Given the description of an element on the screen output the (x, y) to click on. 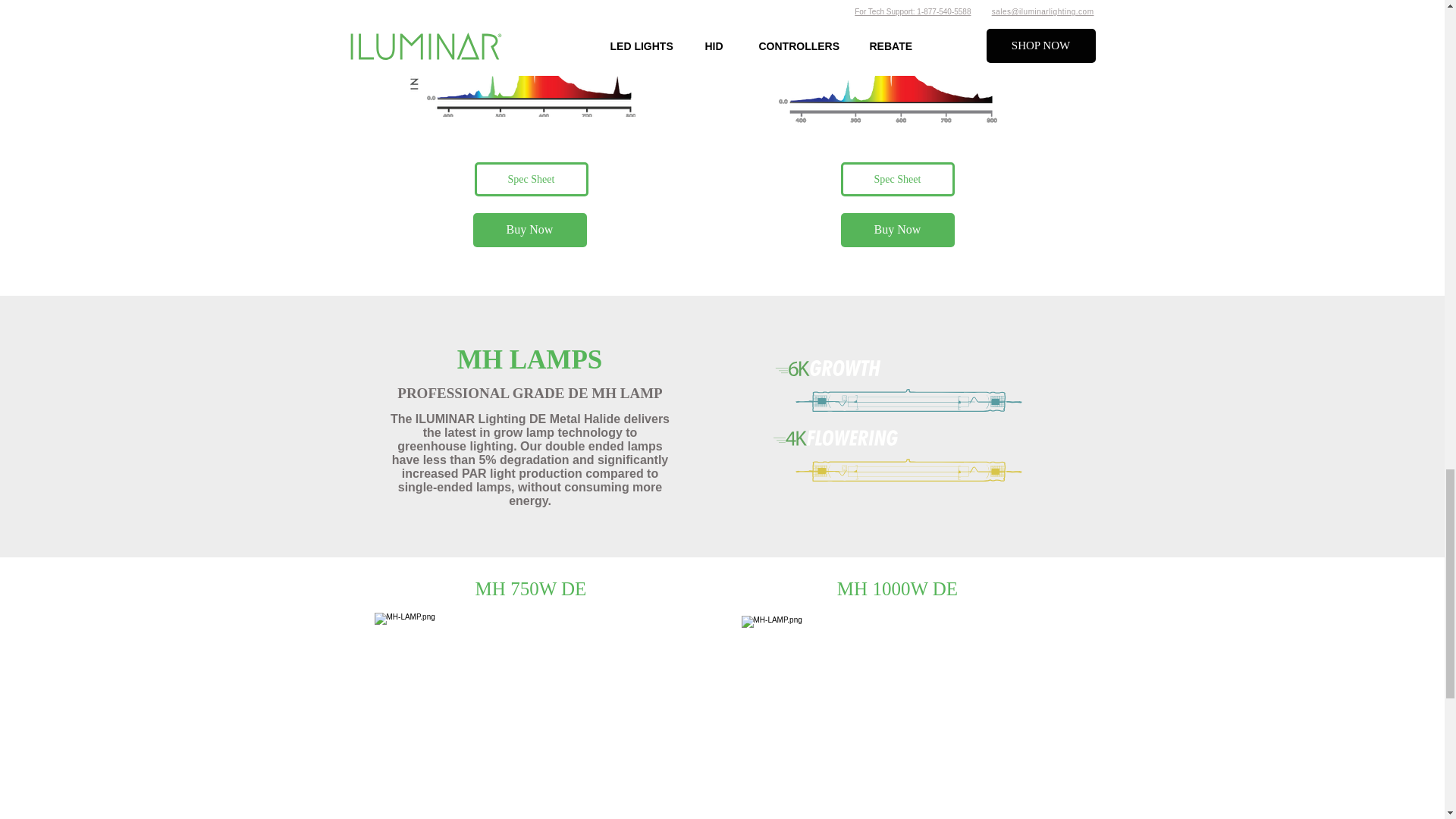
Spec Sheet (531, 179)
Spec Sheet (896, 179)
Buy Now (529, 229)
